Given the description of an element on the screen output the (x, y) to click on. 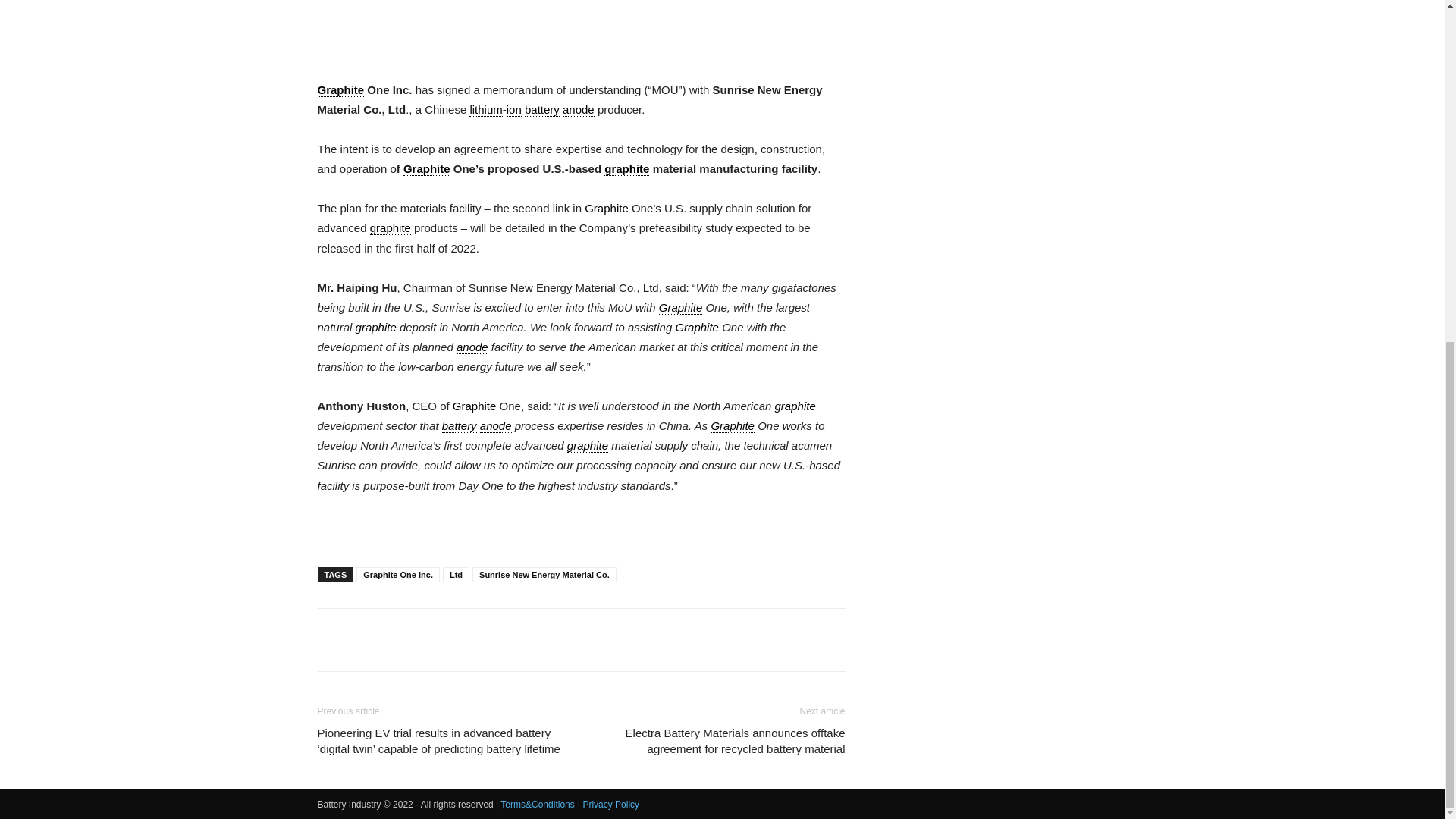
Glossary: Lithium (485, 110)
Glossary: Anode (578, 110)
Glossary: Ion (513, 110)
Glossary: Battery (541, 110)
Glossary: Graphite (340, 90)
